Given the description of an element on the screen output the (x, y) to click on. 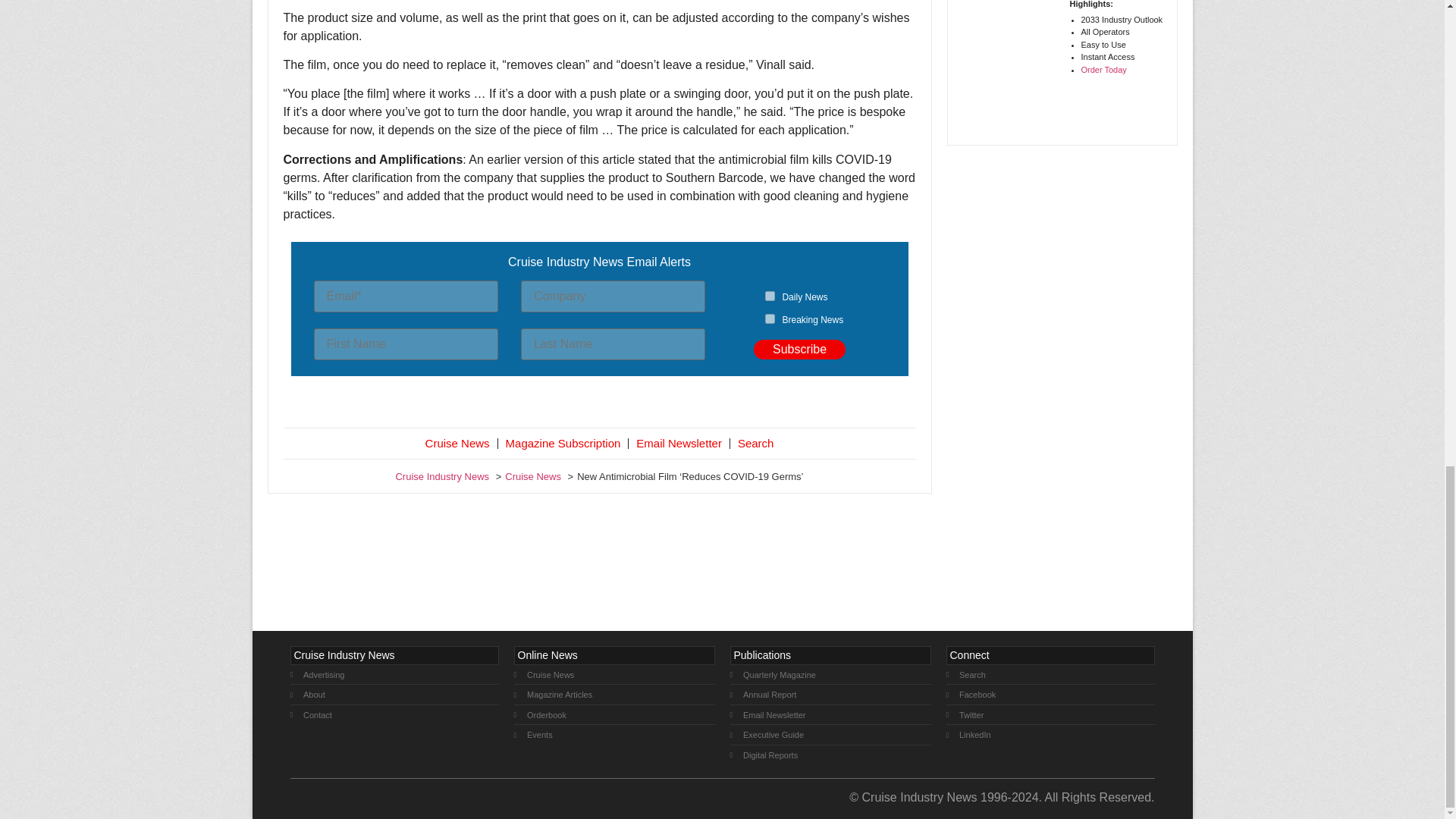
2 (769, 318)
1 (769, 296)
Subscribe (799, 349)
